Given the description of an element on the screen output the (x, y) to click on. 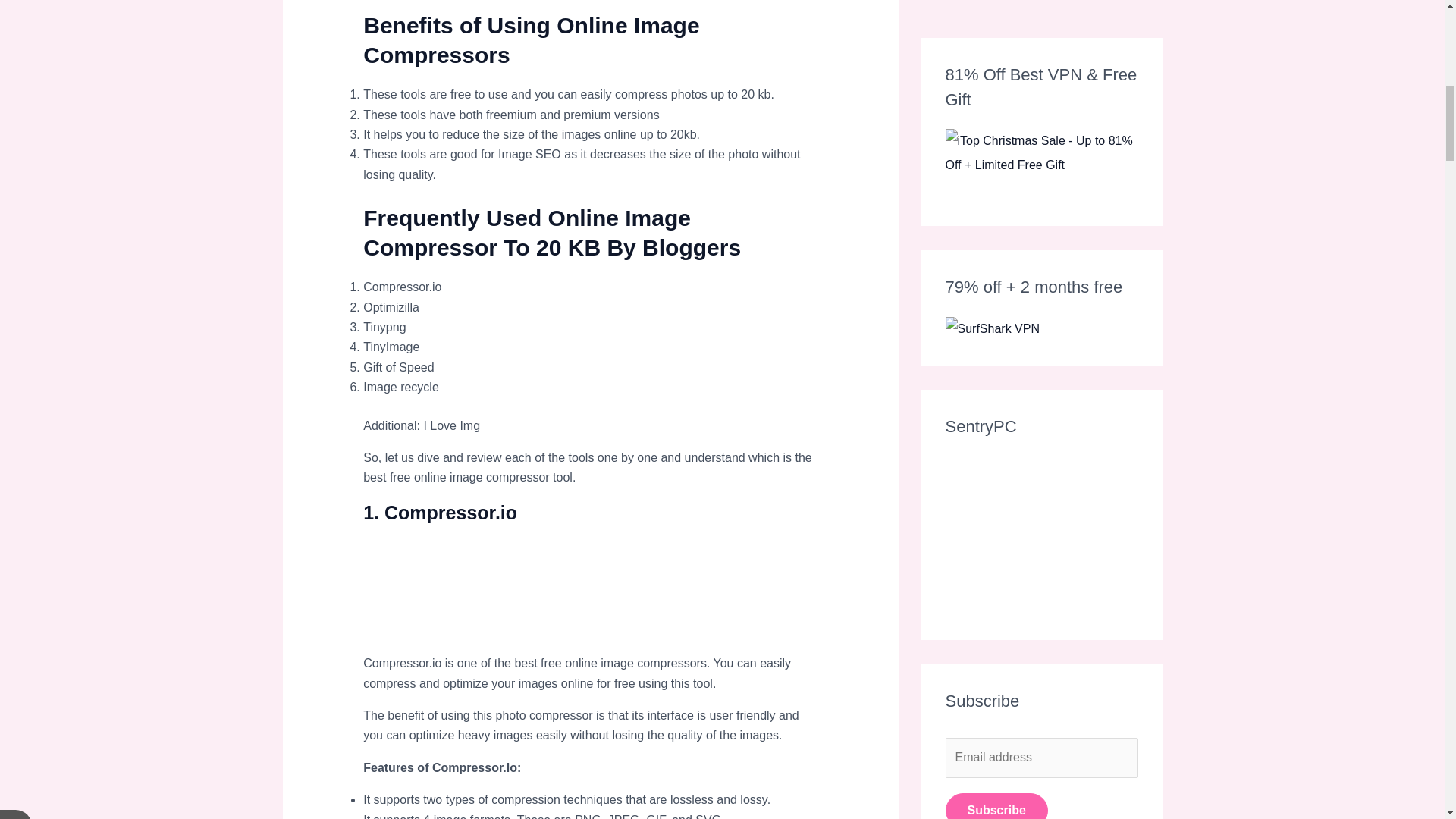
source: imgur.com (476, 596)
x (16, 12)
